Given the description of an element on the screen output the (x, y) to click on. 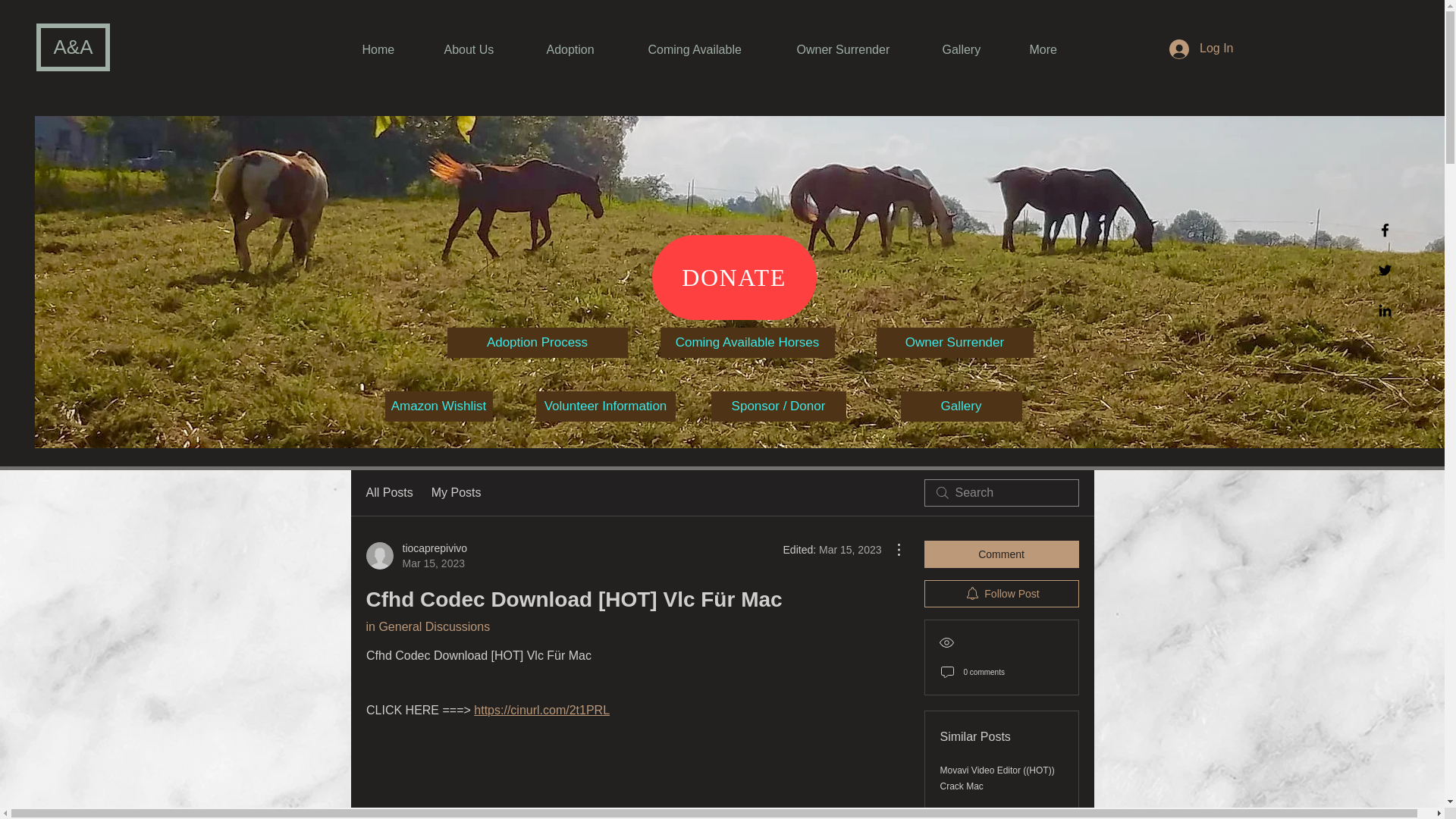
Owner Surrender (954, 342)
Coming Available (711, 49)
Gallery (961, 406)
Coming Available Horses (746, 342)
All Posts (388, 493)
Volunteer Information (605, 406)
DONATE (734, 277)
Home (391, 49)
Amazon Wishlist (439, 406)
Owner Surrender (858, 49)
